Given the description of an element on the screen output the (x, y) to click on. 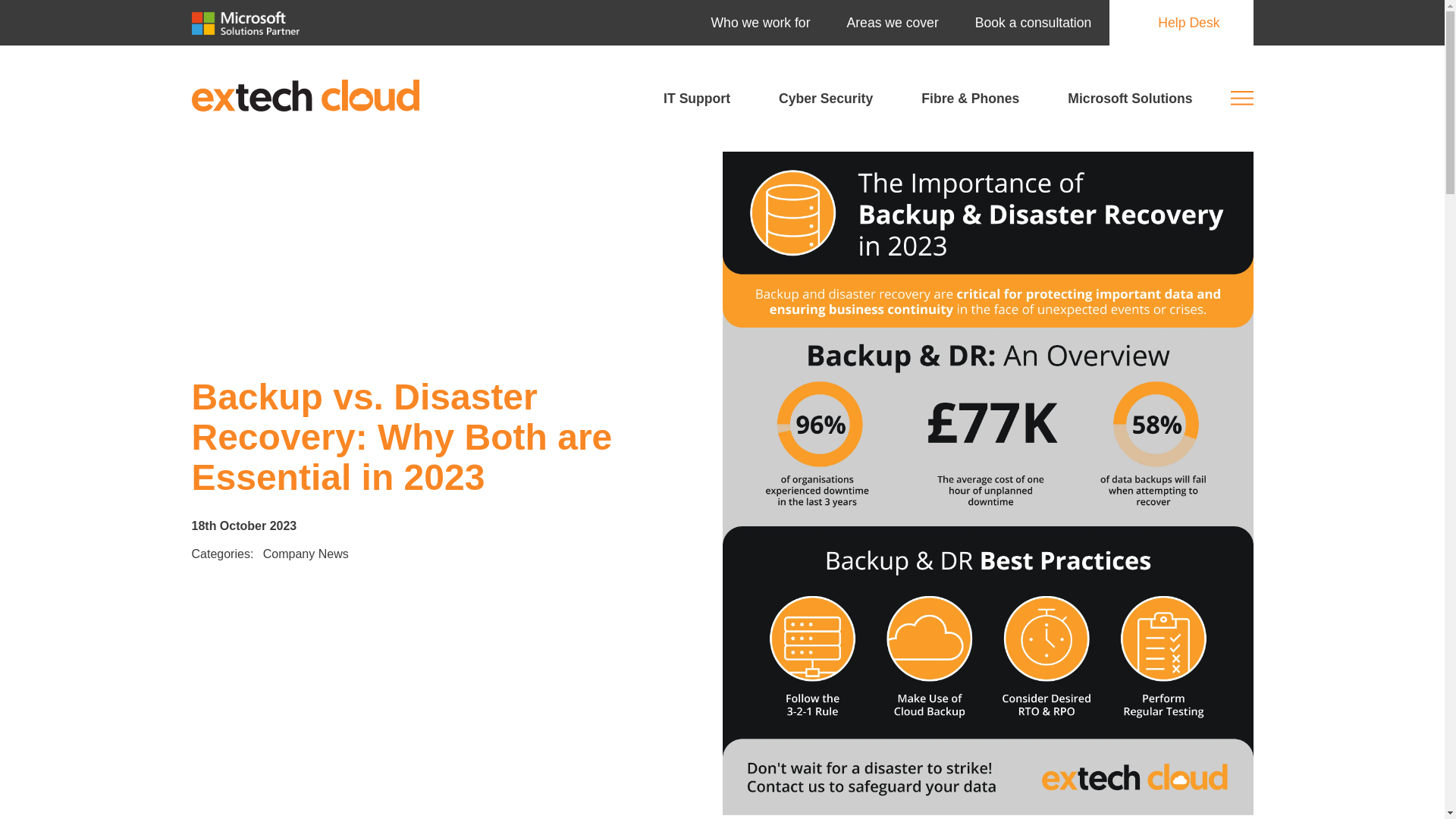
Help Desk (1180, 22)
extech-cloud-logo-orange-grey (304, 95)
Book a consultation (1032, 22)
IT Support (696, 98)
microsoft-solutions-partner (244, 23)
Who we work for (760, 22)
Microsoft Solutions (1129, 98)
Cyber Security (825, 98)
Areas we cover (892, 22)
